Given the description of an element on the screen output the (x, y) to click on. 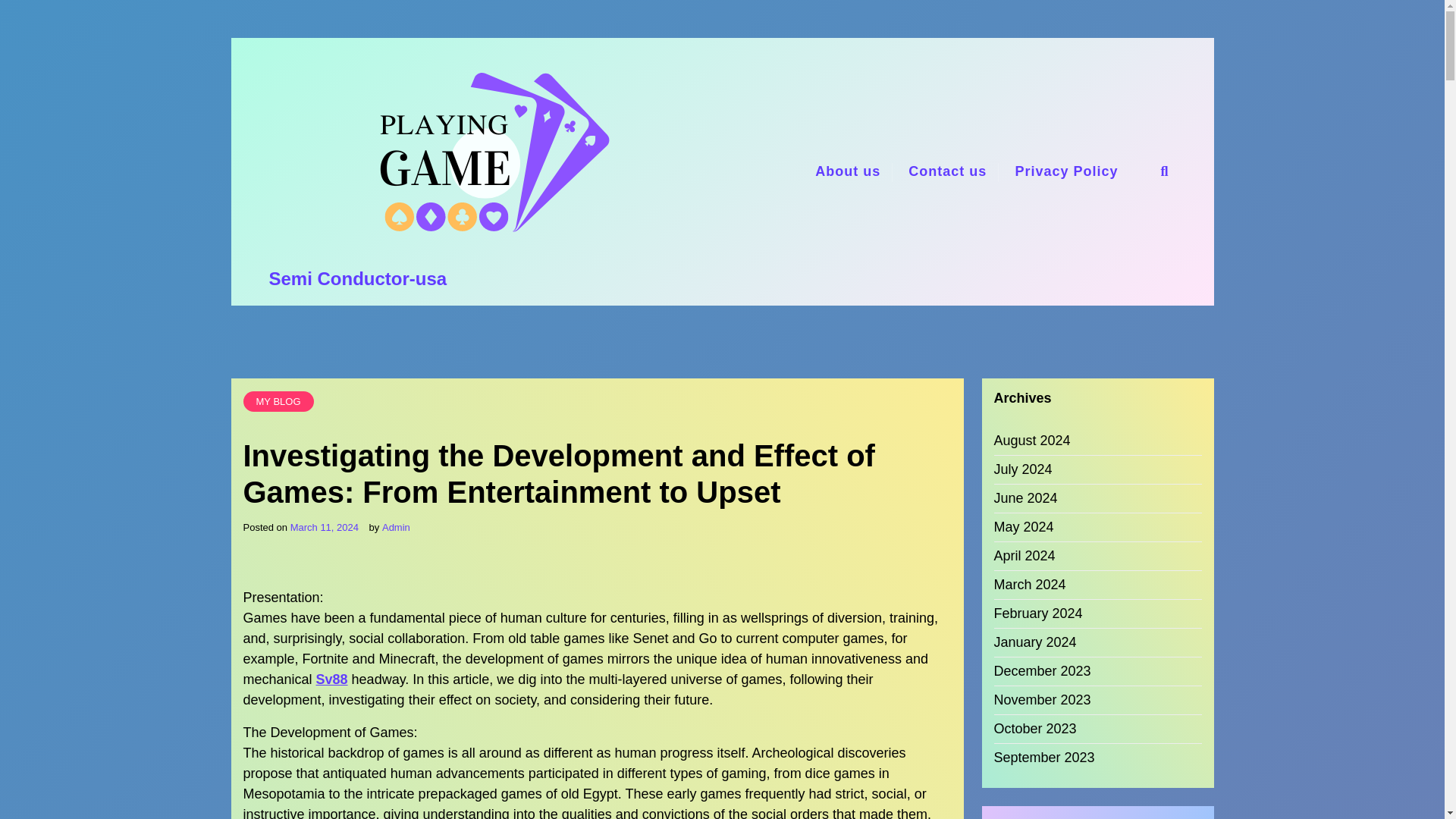
February 2024 (1036, 613)
March 11, 2024 (323, 527)
June 2024 (1024, 498)
December 2023 (1041, 670)
Privacy Policy (1066, 171)
Contact us (947, 171)
August 2024 (1031, 440)
Sv88 (331, 679)
September 2023 (1043, 757)
November 2023 (1041, 700)
July 2024 (1021, 469)
MY BLOG (278, 401)
About us (847, 171)
Semi Conductor-usa (356, 279)
January 2024 (1033, 642)
